Given the description of an element on the screen output the (x, y) to click on. 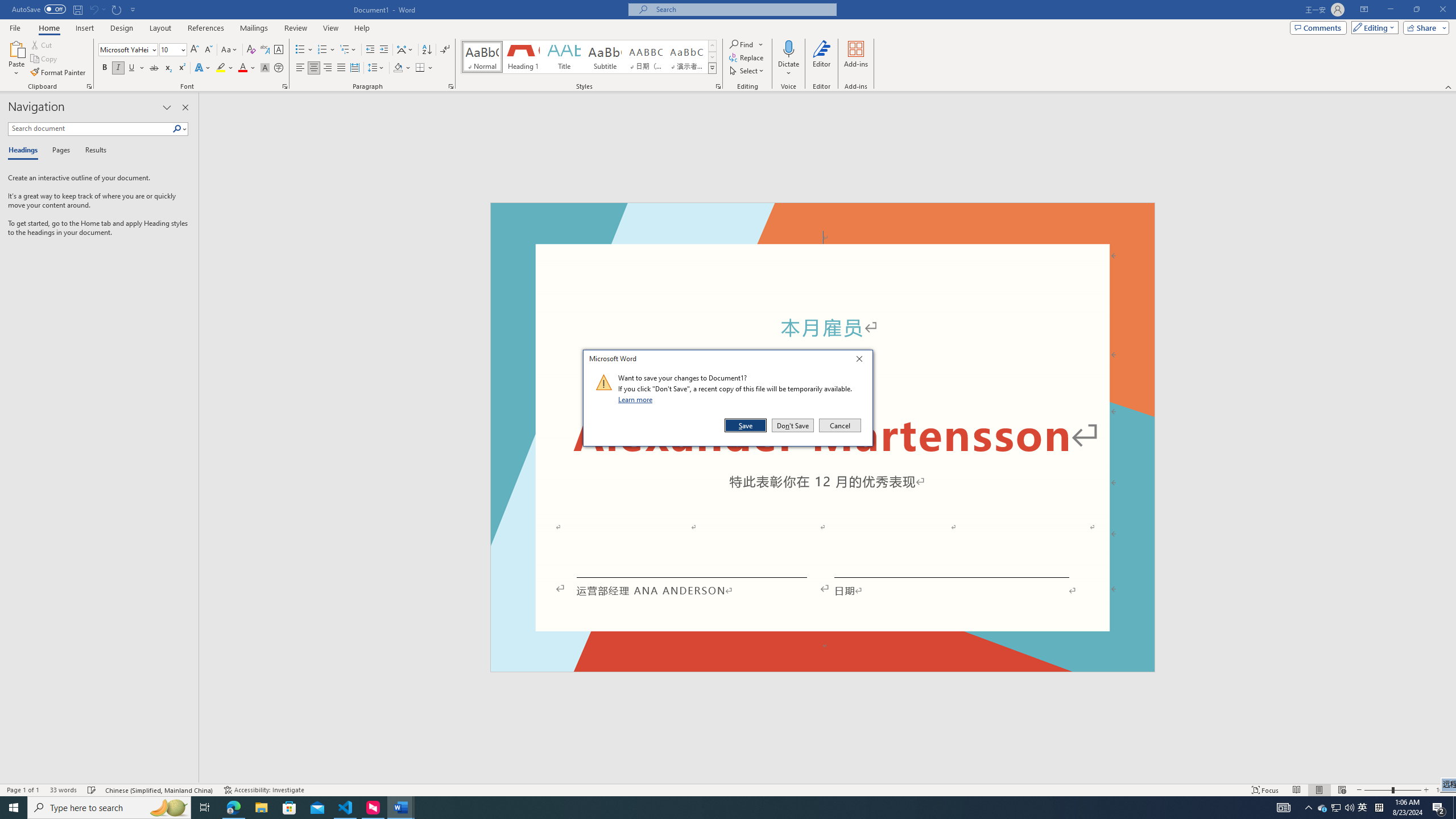
Type here to search (108, 807)
Class: NetUIScrollBar (1450, 437)
Multilevel List (347, 49)
Microsoft search (742, 9)
Class: MsoCommandBar (728, 789)
Enclose Characters... (278, 67)
Cancel (839, 425)
Footer -Section 1- (1322, 807)
Accessibility Checker Accessibility: Investigate (822, 666)
Learn more (263, 790)
